Given the description of an element on the screen output the (x, y) to click on. 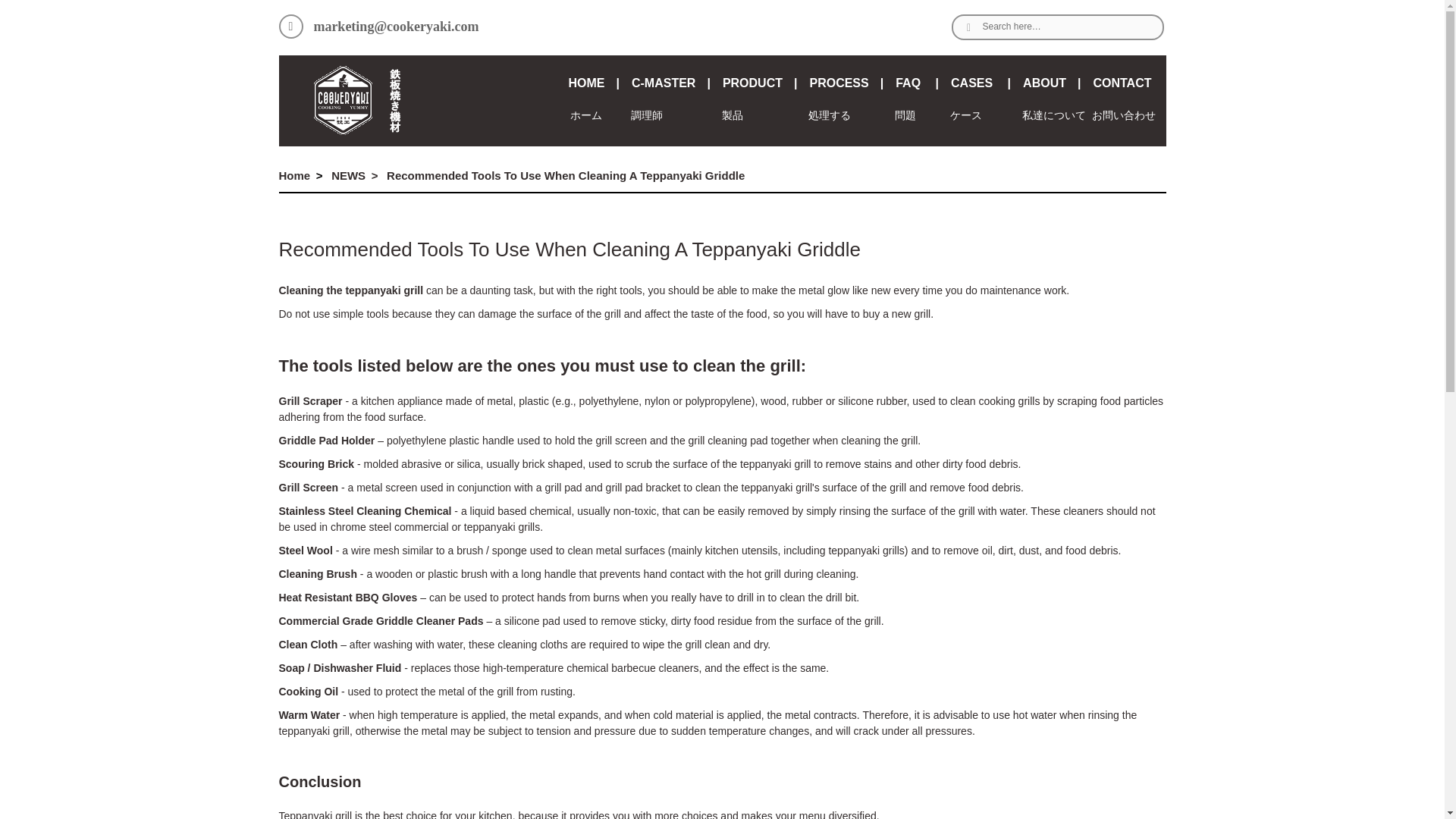
CONTACT (1127, 82)
CASES (980, 82)
HOME (592, 82)
NEWS (348, 174)
PRODUCT (759, 82)
Recommended Tools To Use When Cleaning A Teppanyaki Griddle (565, 174)
PROCESS (846, 82)
FAQ (917, 82)
ABOUT (1051, 82)
Home (295, 174)
